Given the description of an element on the screen output the (x, y) to click on. 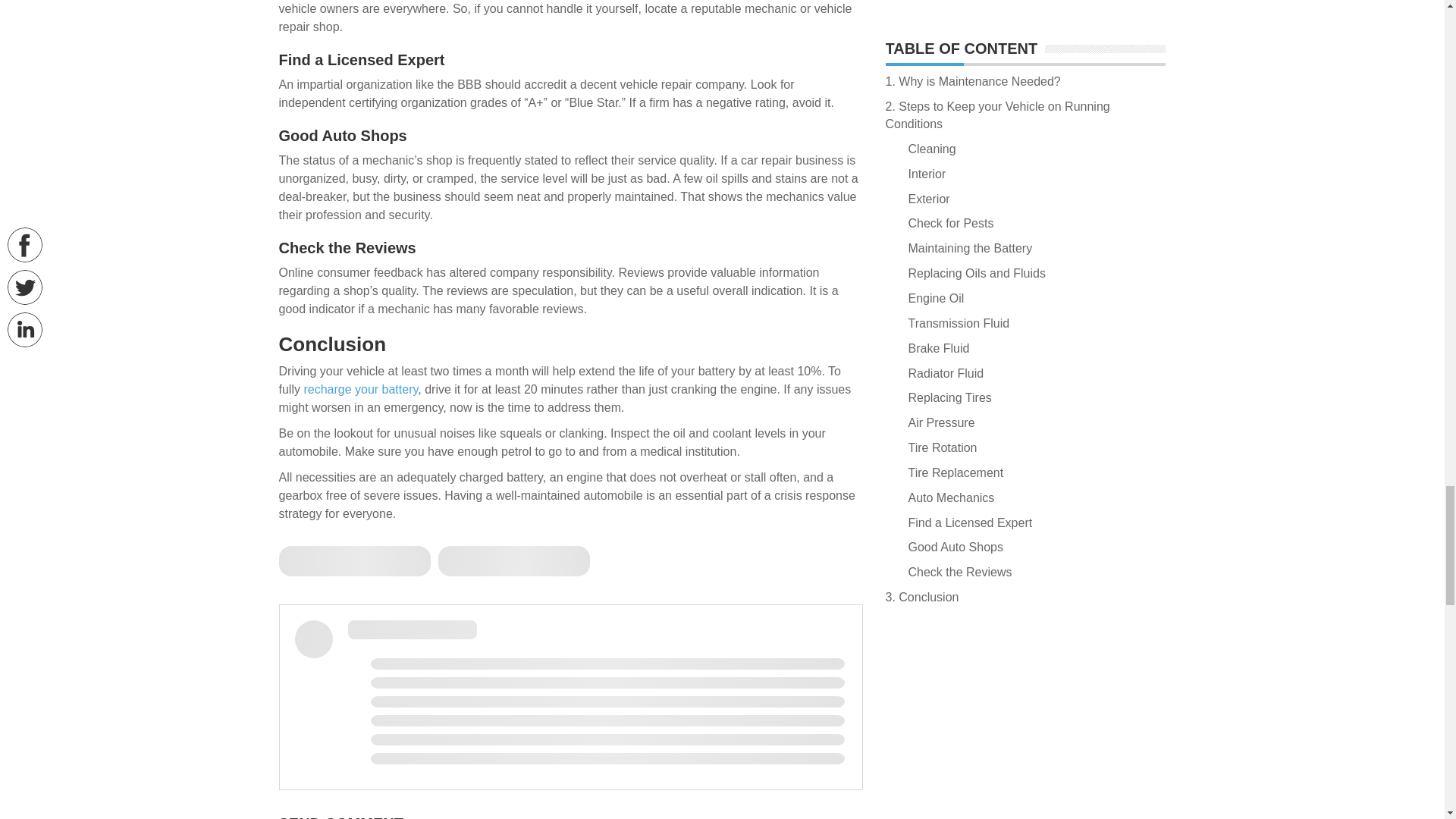
Loading... (354, 561)
Loading... (569, 694)
recharge your battery (359, 389)
Loading... (513, 561)
